Given the description of an element on the screen output the (x, y) to click on. 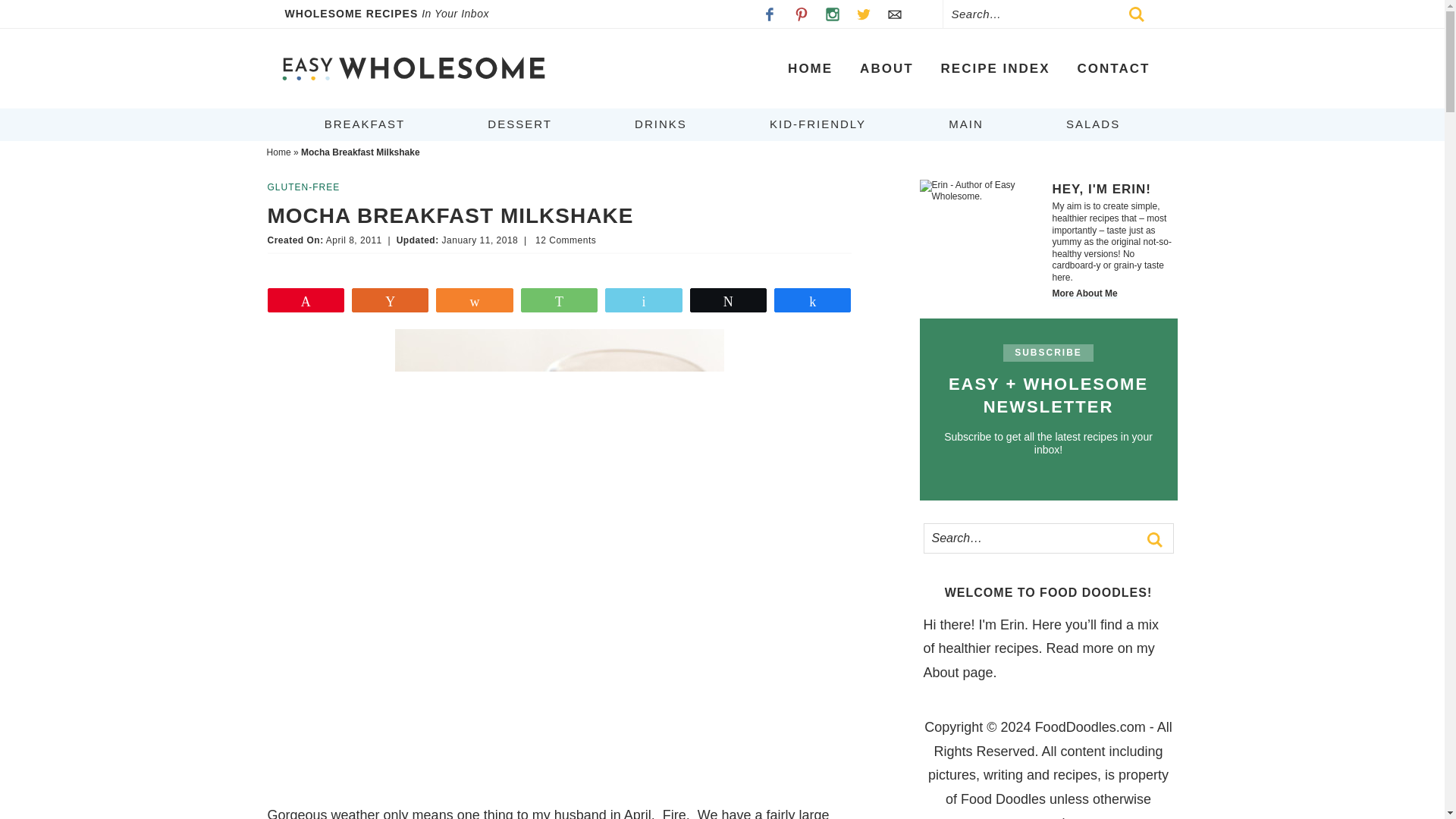
Search for (1053, 13)
Search for (1047, 546)
MAIN (965, 124)
Home (278, 152)
ABOUT (885, 68)
DRINKS (660, 124)
WHOLESOME RECIPES In Your Inbox (397, 13)
EASY WHOLESOME (413, 68)
KID-FRIENDLY (817, 124)
RECIPE INDEX (995, 68)
DESSERT (519, 124)
BREAKFAST (364, 124)
HOME (809, 68)
CONTACT (1113, 68)
